Given the description of an element on the screen output the (x, y) to click on. 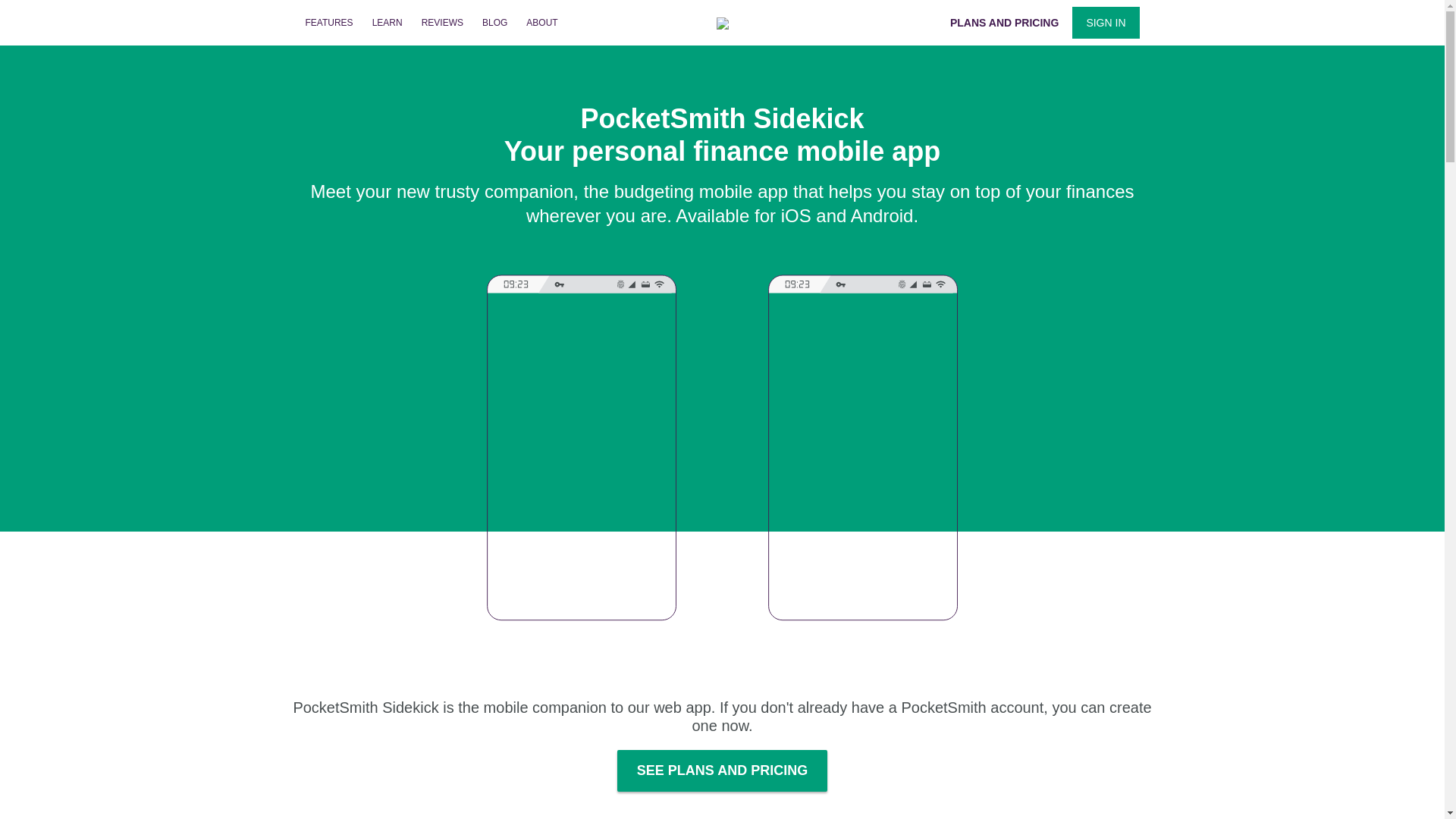
PLANS AND PRICING (1003, 22)
SIGN IN (1104, 22)
REVIEWS (442, 22)
FEATURES (328, 22)
SEE PLANS AND PRICING (722, 770)
